Given the description of an element on the screen output the (x, y) to click on. 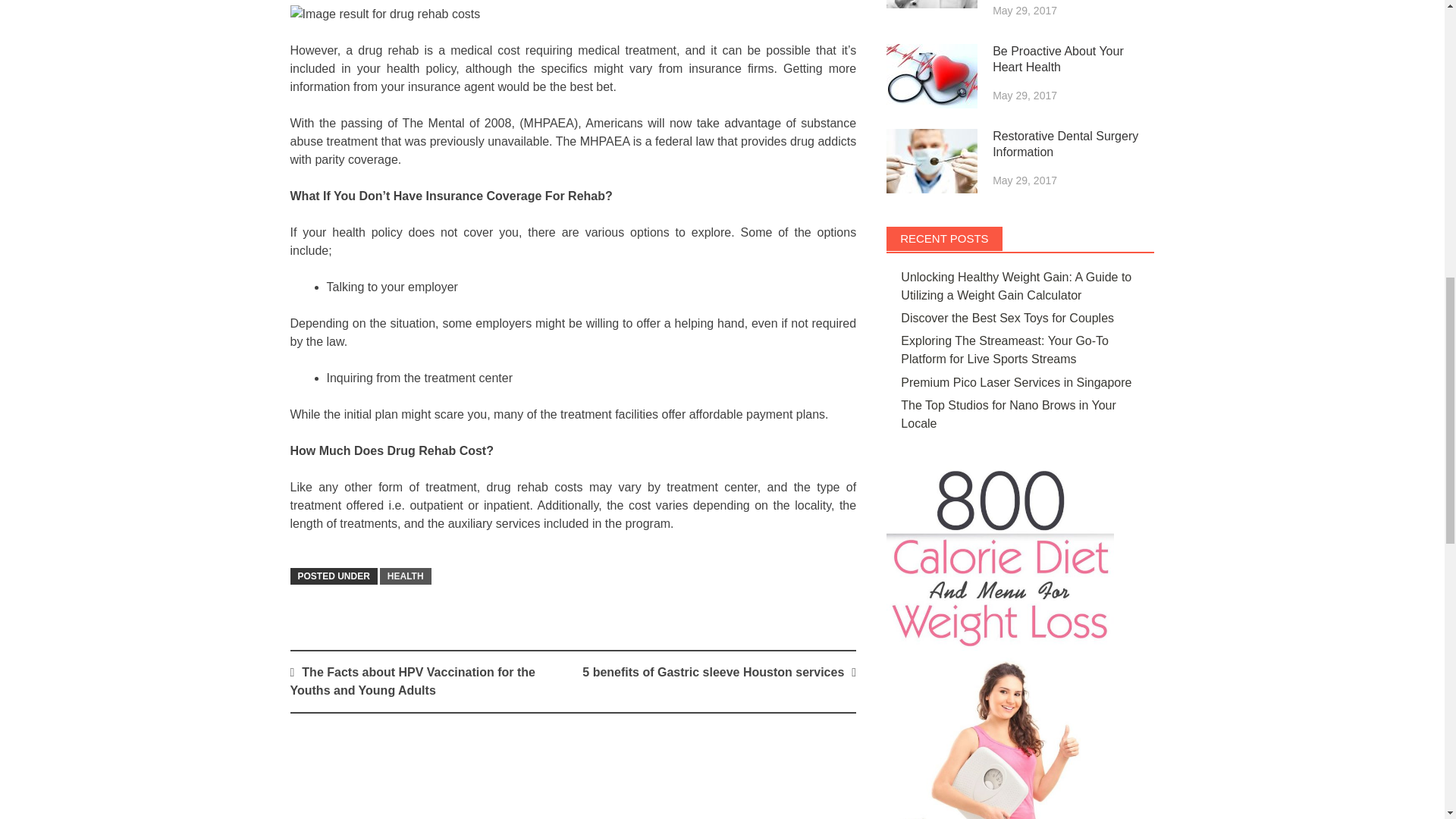
Be Proactive About Your Heart Health (931, 76)
Restorative Dental Surgery Information (931, 160)
5 benefits of Gastric sleeve Houston services (713, 671)
HEALTH (405, 576)
